Given the description of an element on the screen output the (x, y) to click on. 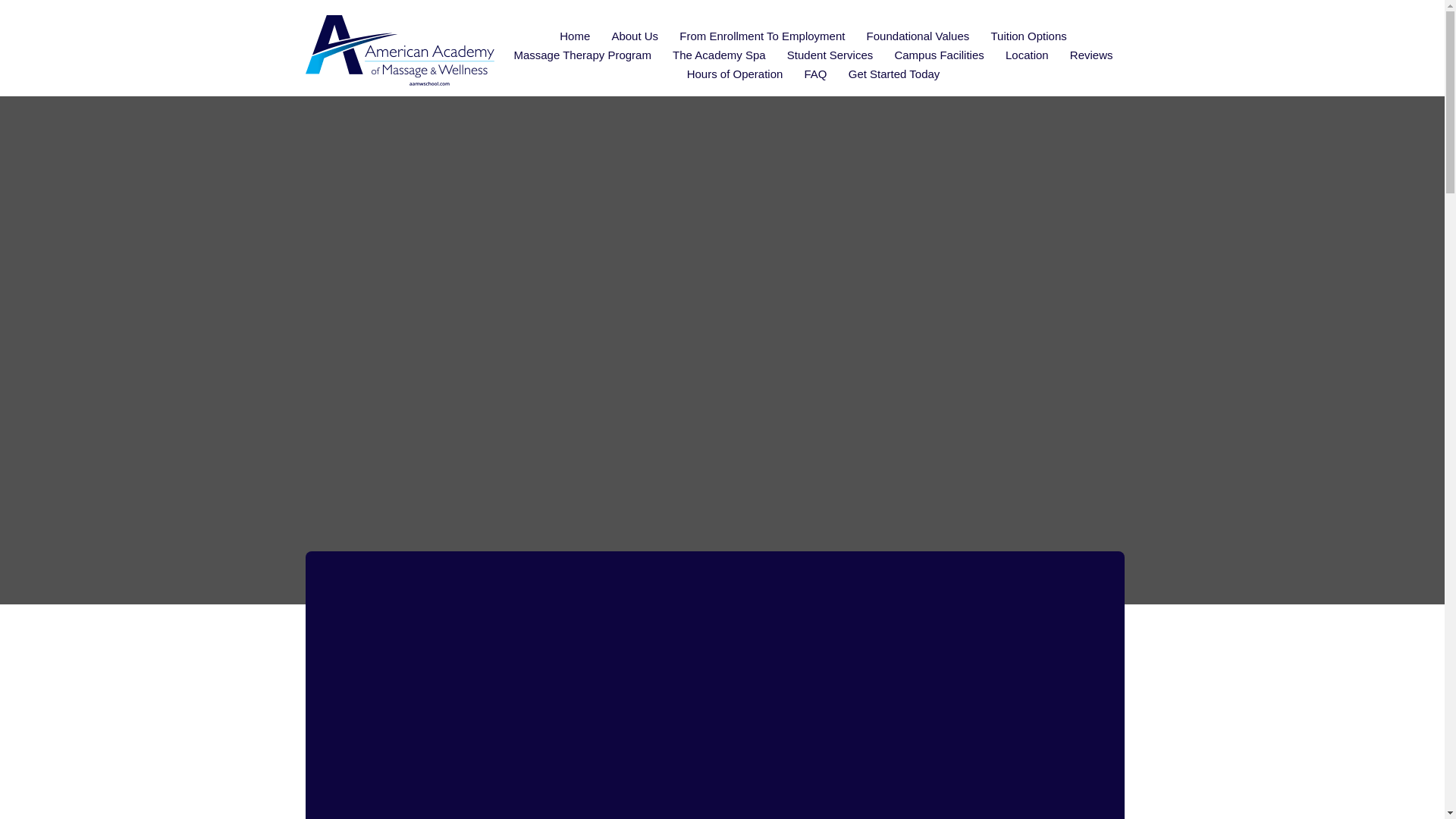
Get Started Today (894, 73)
Location (1026, 54)
Massage Therapy Program (581, 54)
Student Services (829, 54)
Home (574, 35)
Foundational Values (917, 35)
Reviews (1091, 54)
From Enrollment To Employment (761, 35)
FAQ (814, 73)
The Academy Spa (718, 54)
Campus Facilities (939, 54)
Tuition Options (1027, 35)
Hours of Operation (735, 73)
About Us (634, 35)
